Given the description of an element on the screen output the (x, y) to click on. 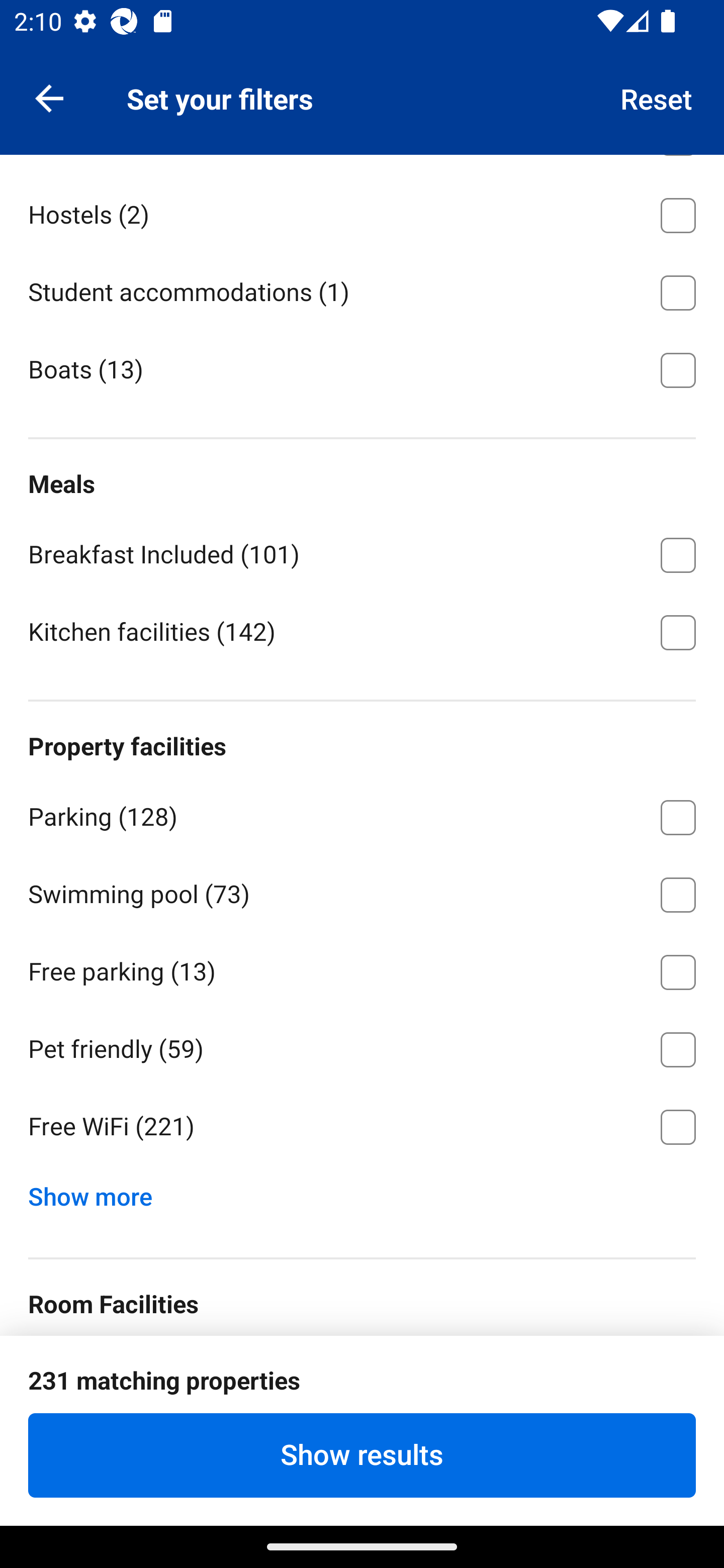
Navigate up (49, 97)
Reset (656, 97)
Hostels ⁦(2) (361, 212)
Student accommodations ⁦(1) (361, 288)
Boats ⁦(13) (361, 368)
Breakfast Included ⁦(101) (361, 551)
Kitchen facilities ⁦(142) (361, 631)
Parking ⁦(128) (361, 814)
Swimming pool ⁦(73) (361, 890)
Free parking ⁦(13) (361, 968)
Pet friendly ⁦(59) (361, 1046)
Free WiFi ⁦(221) (361, 1127)
Show more (97, 1192)
Show results (361, 1454)
